Given the description of an element on the screen output the (x, y) to click on. 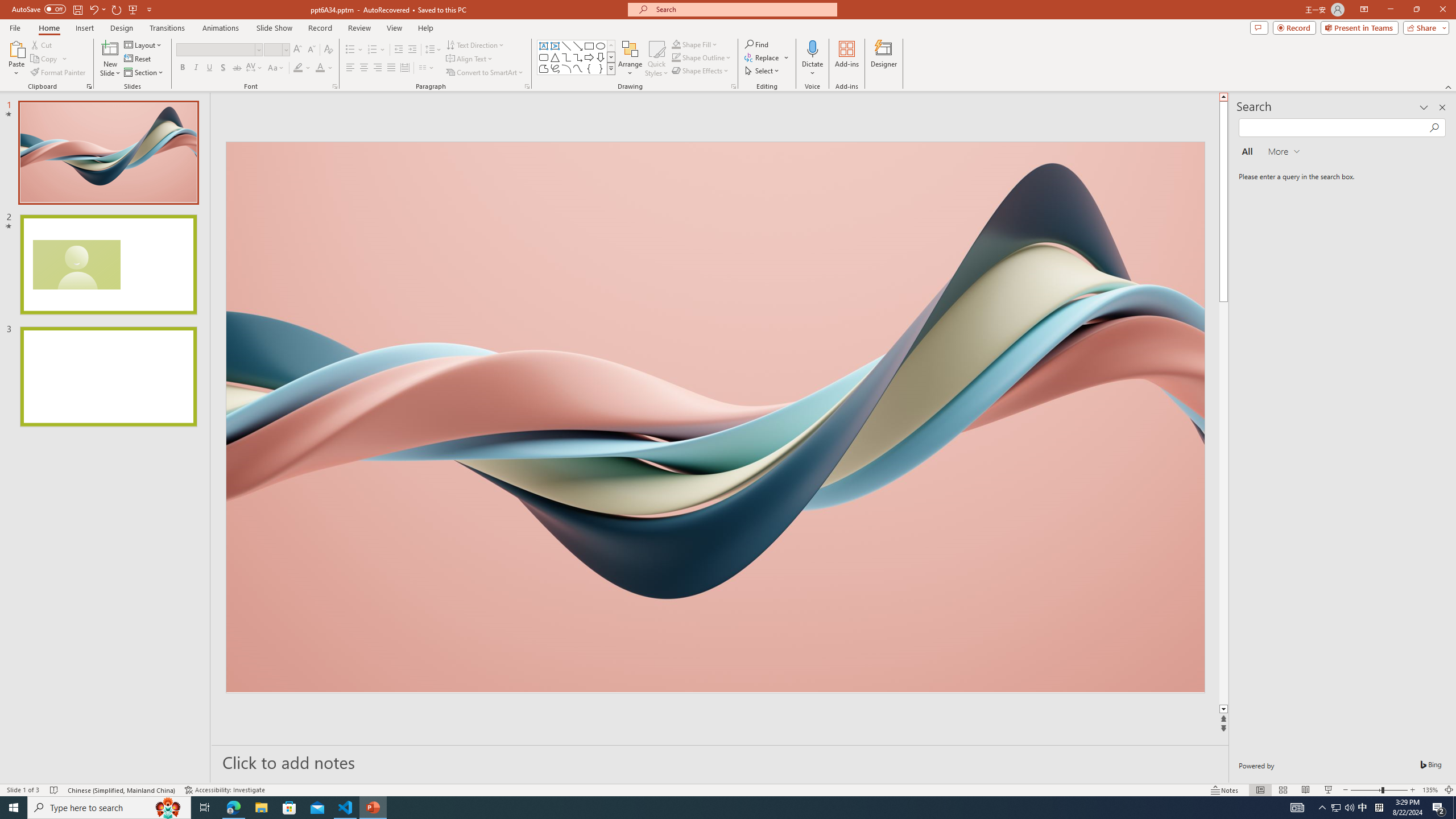
Wavy 3D art (714, 417)
